Given the description of an element on the screen output the (x, y) to click on. 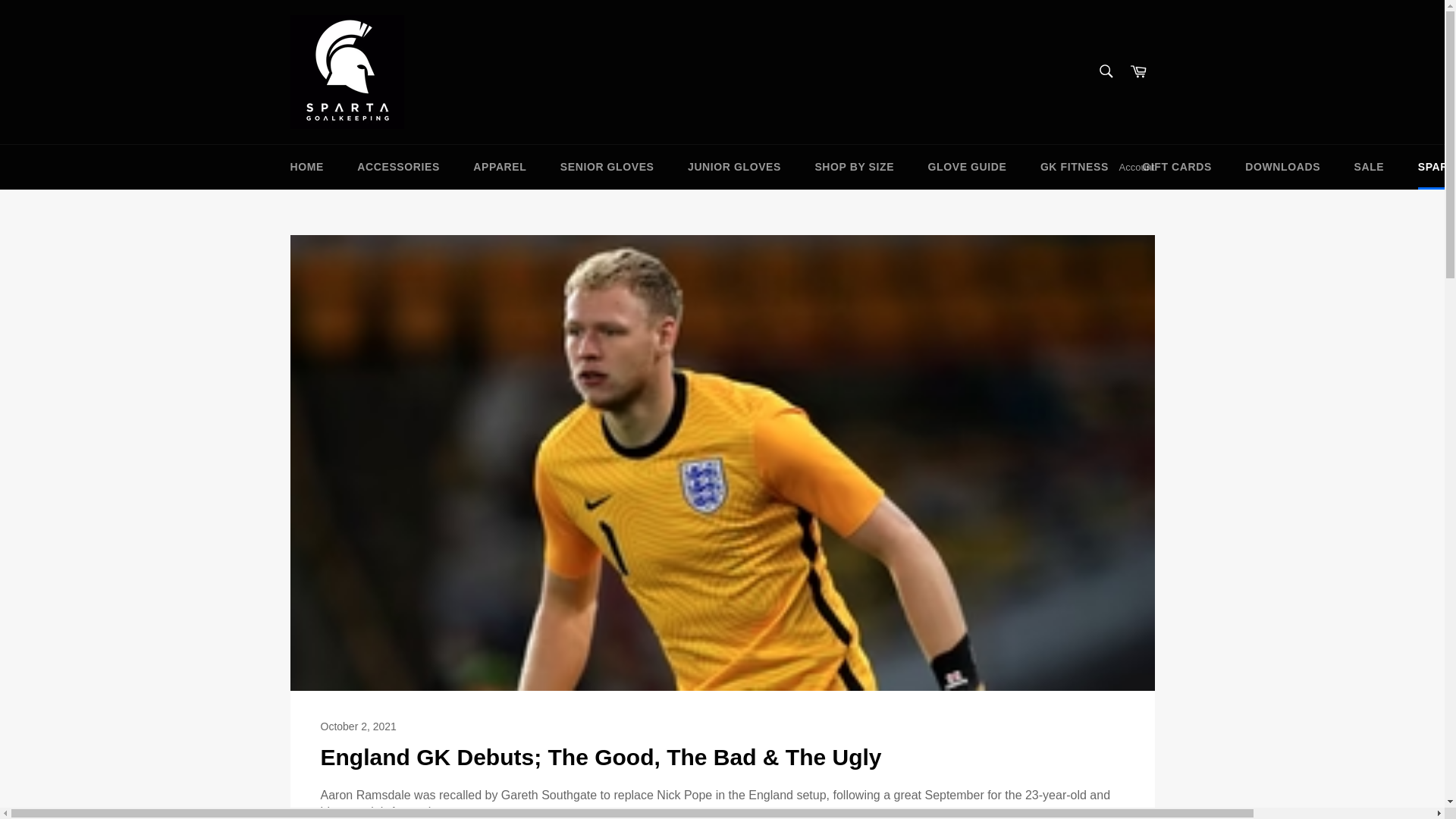
Account (1136, 167)
GLOVE GUIDE (967, 166)
SHOP BY SIZE (853, 166)
DOWNLOADS (1282, 166)
ACCESSORIES (398, 166)
SENIOR GLOVES (606, 166)
GIFT CARDS (1176, 166)
SPARTA SPOTLIGHT (1429, 166)
APPAREL (499, 166)
GK FITNESS (1074, 166)
